Given the description of an element on the screen output the (x, y) to click on. 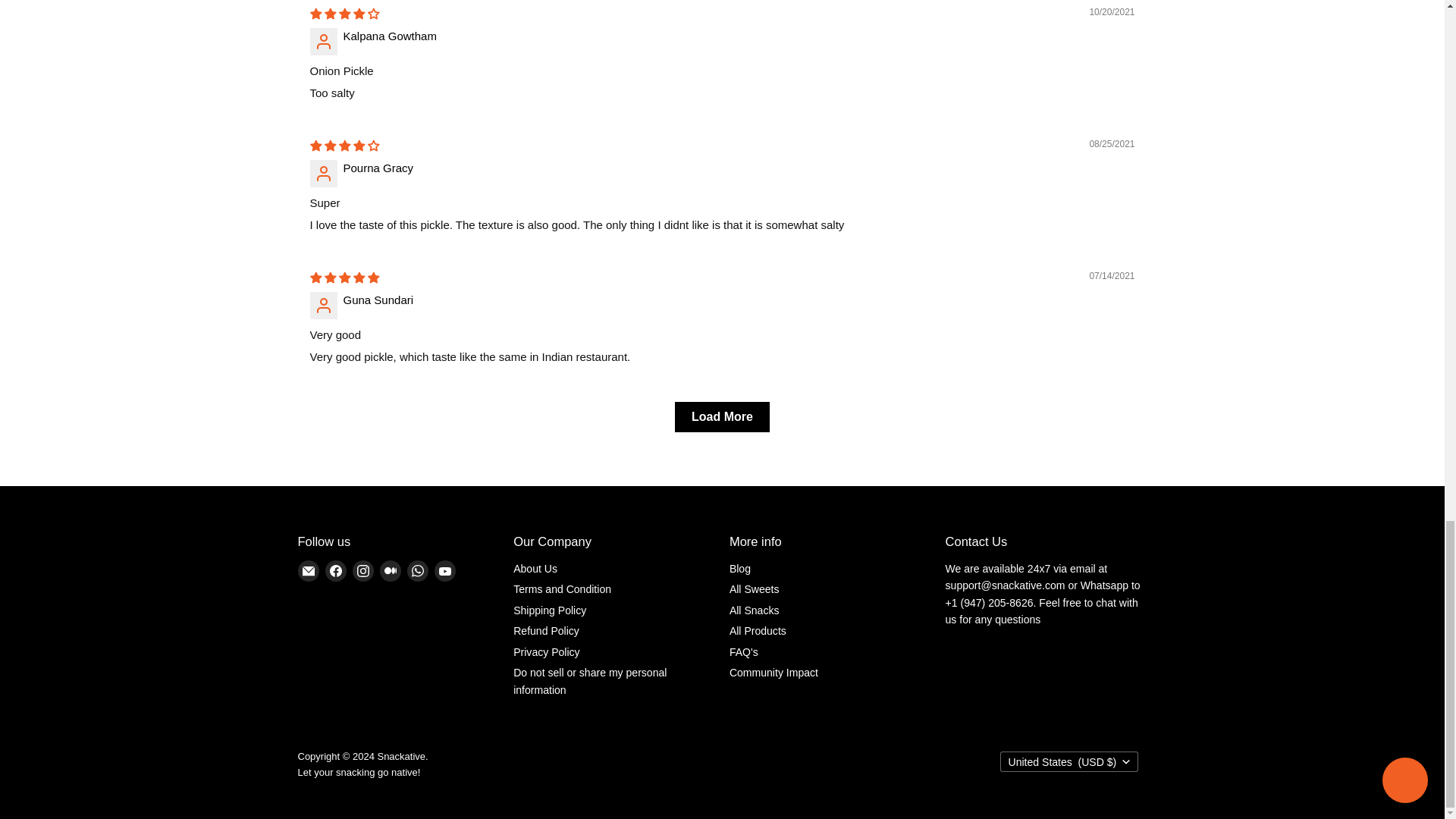
Instagram (362, 570)
Medium (389, 570)
E-mail (307, 570)
Facebook (335, 570)
WhatsApp (416, 570)
YouTube (444, 570)
